Given the description of an element on the screen output the (x, y) to click on. 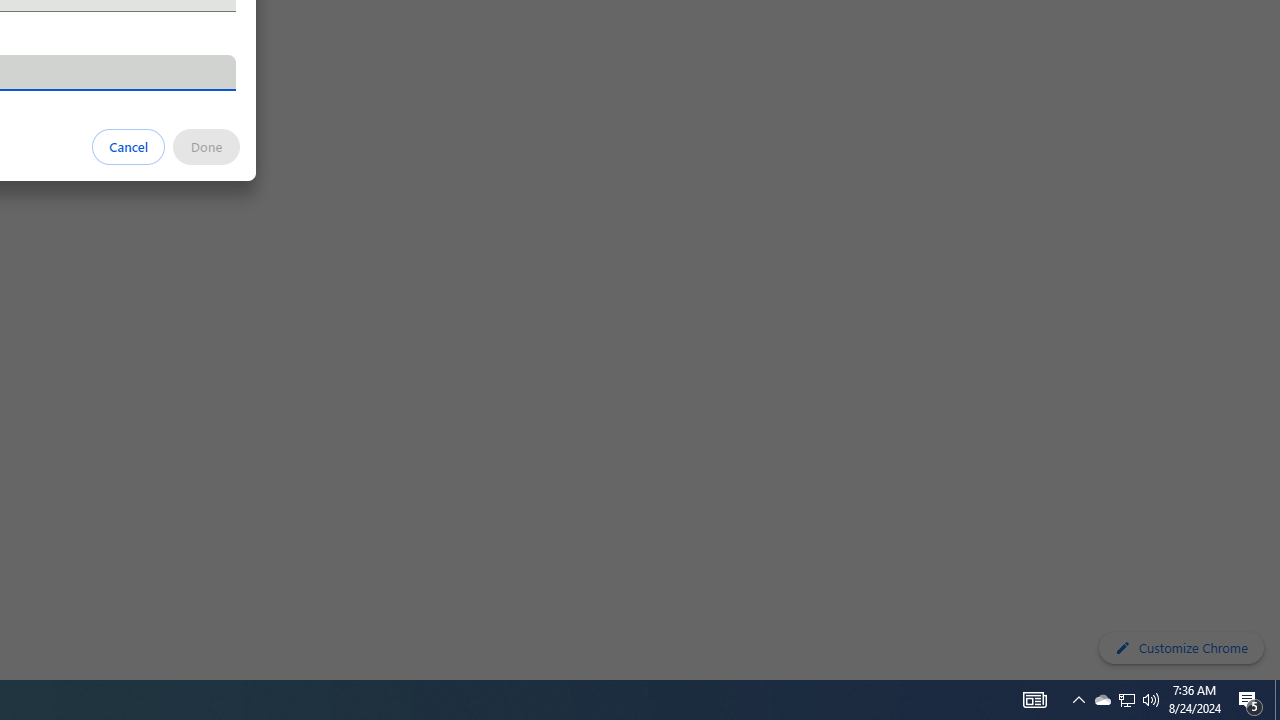
Cancel (129, 146)
Done (206, 146)
